Given the description of an element on the screen output the (x, y) to click on. 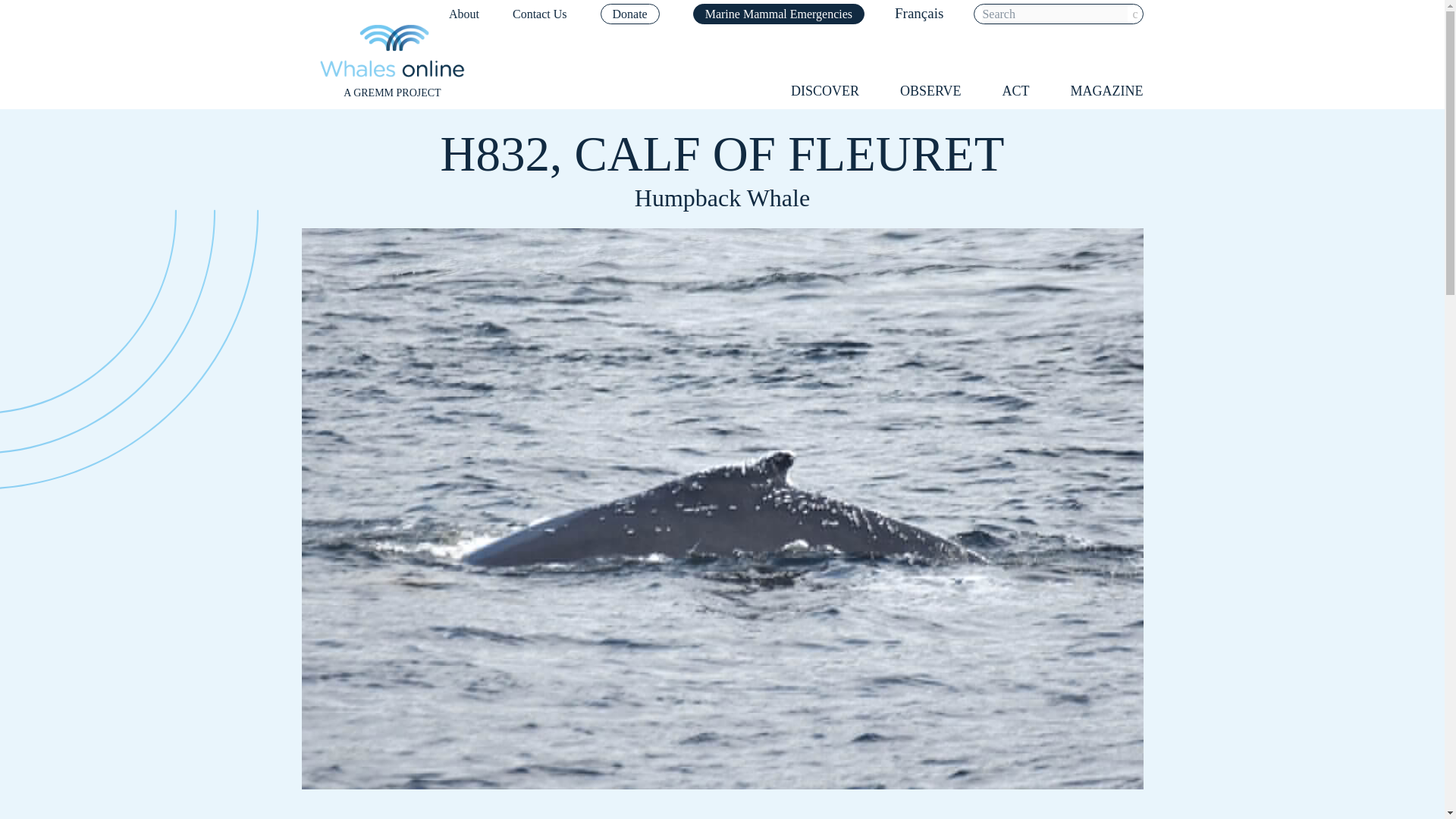
About (463, 13)
Donate (629, 14)
Marine Mammal Emergencies (778, 14)
DISCOVER (824, 90)
Contact Us (539, 13)
A GREMM PROJECT (392, 62)
Home (392, 62)
